Given the description of an element on the screen output the (x, y) to click on. 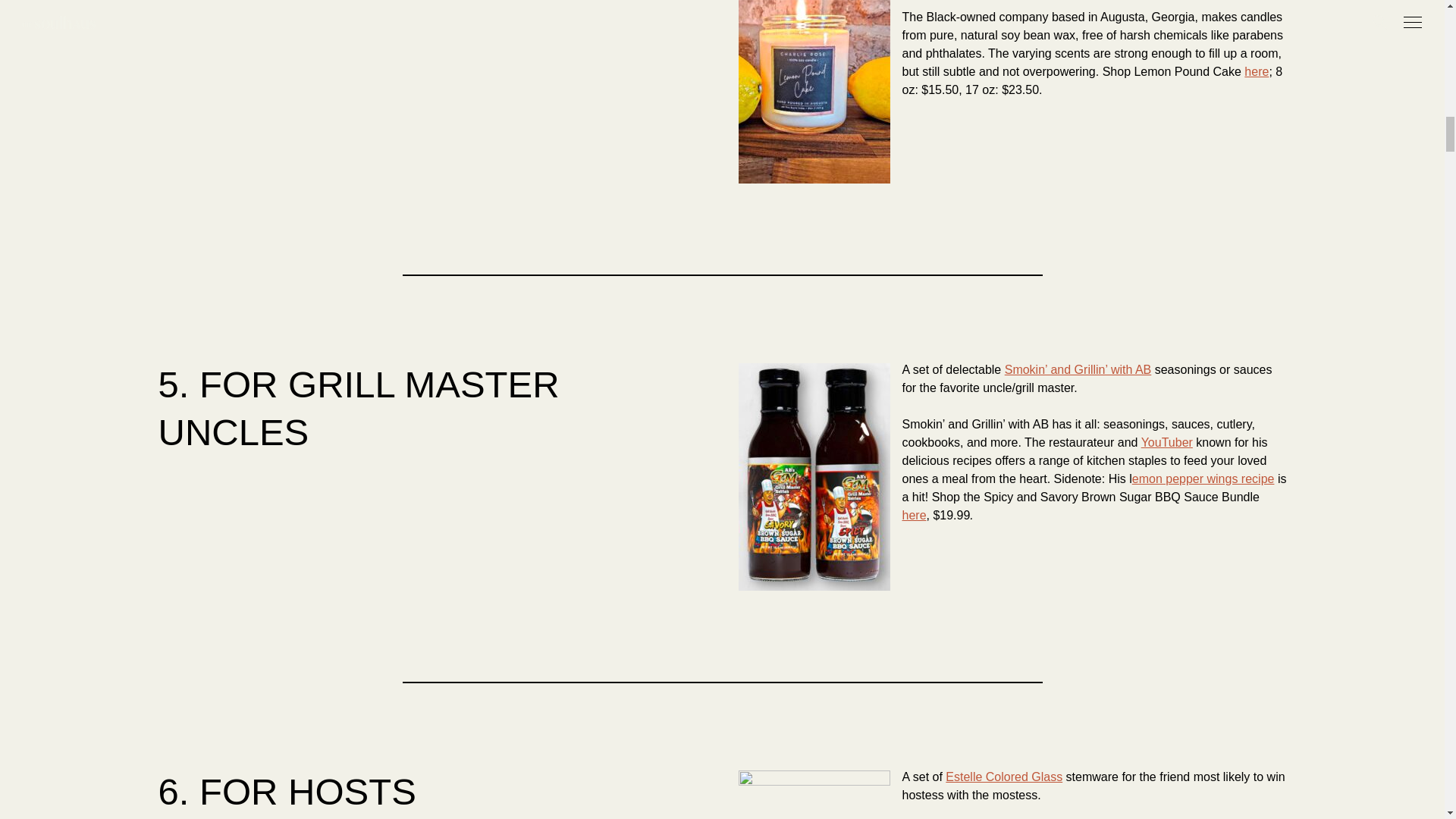
Estelle Colored Glass (1003, 776)
emon pepper wings recipe (1203, 478)
here (1256, 71)
here (914, 514)
YouTuber (1166, 441)
